Given the description of an element on the screen output the (x, y) to click on. 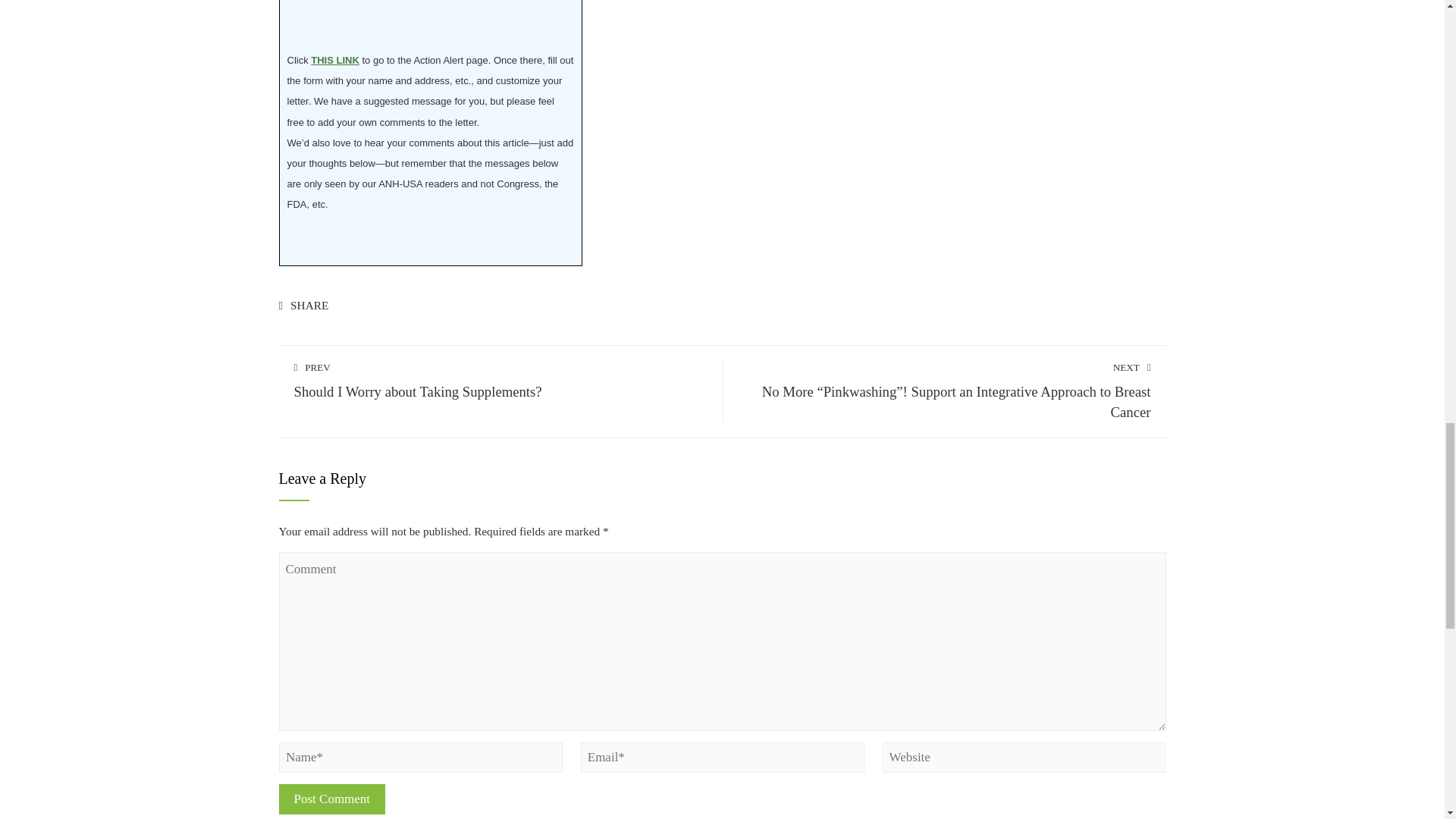
Post Comment (332, 798)
